Given the description of an element on the screen output the (x, y) to click on. 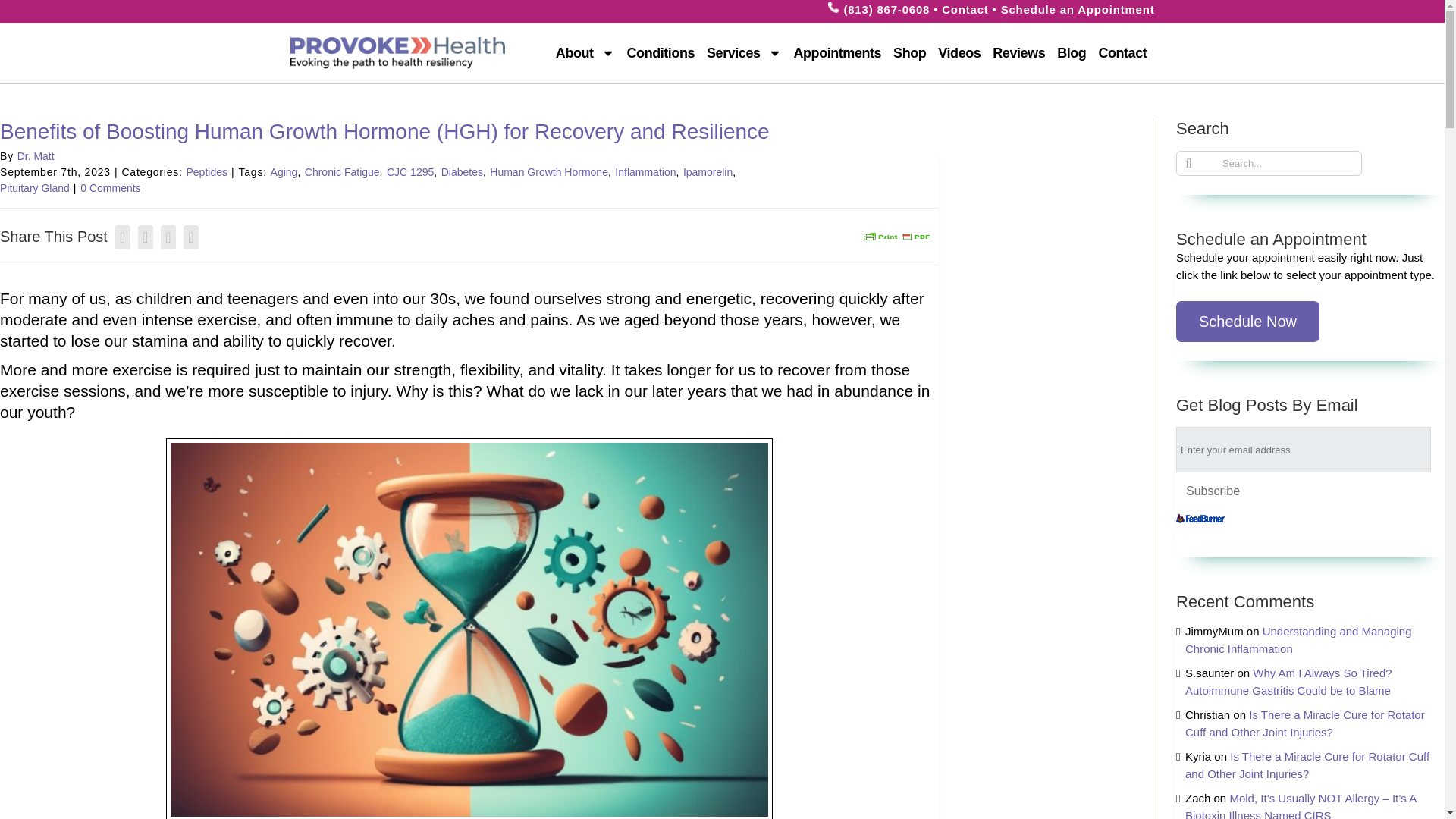
Services (743, 52)
Videos (959, 52)
Appointments (837, 52)
Posts by Dr. Matt (36, 155)
Shop (909, 52)
Enter your email address (1303, 449)
Contact (1122, 52)
Enter your email address (1303, 449)
Schedule an Appointment (1077, 9)
Reviews (1018, 52)
About (585, 52)
Contact (965, 9)
Blog (1071, 52)
Conditions (660, 52)
